Given the description of an element on the screen output the (x, y) to click on. 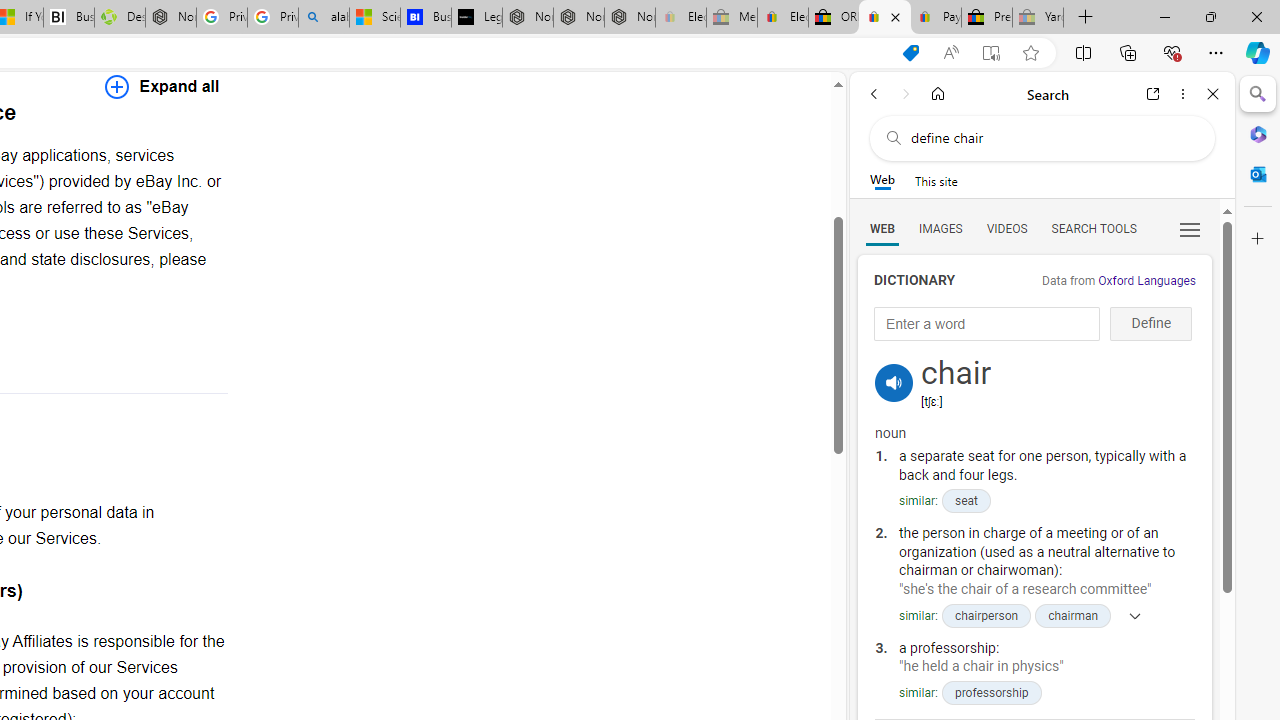
chairman (1073, 615)
Enter a word (987, 323)
Expand all (162, 86)
